Given the description of an element on the screen output the (x, y) to click on. 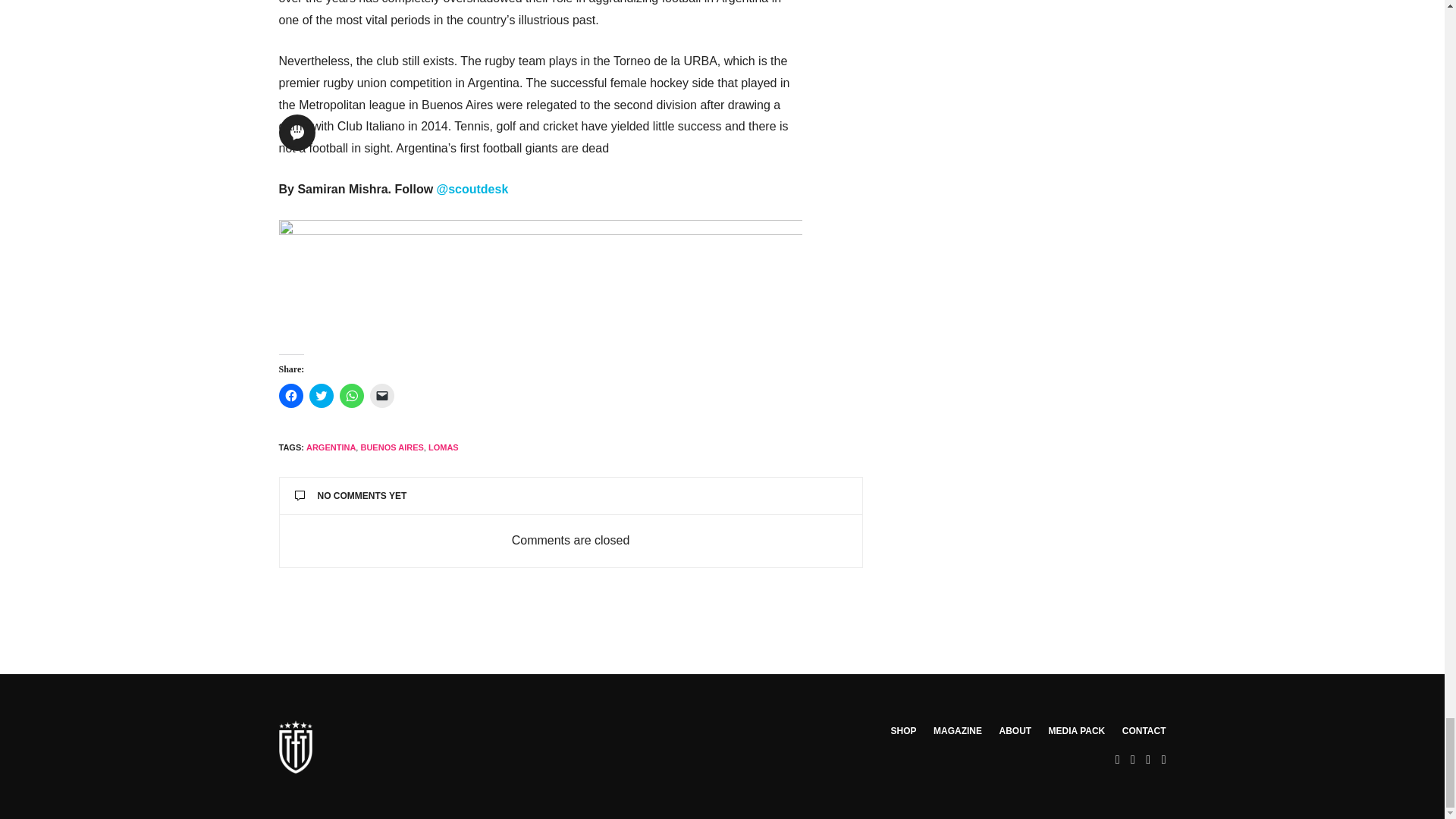
Click to email a link to a friend (381, 395)
NO COMMENTS YET (570, 496)
Click to share on WhatsApp (351, 395)
ARGENTINA (330, 447)
BUENOS AIRES (391, 447)
Click to share on Twitter (320, 395)
Click to share on Facebook (290, 395)
LOMAS (443, 447)
